Given the description of an element on the screen output the (x, y) to click on. 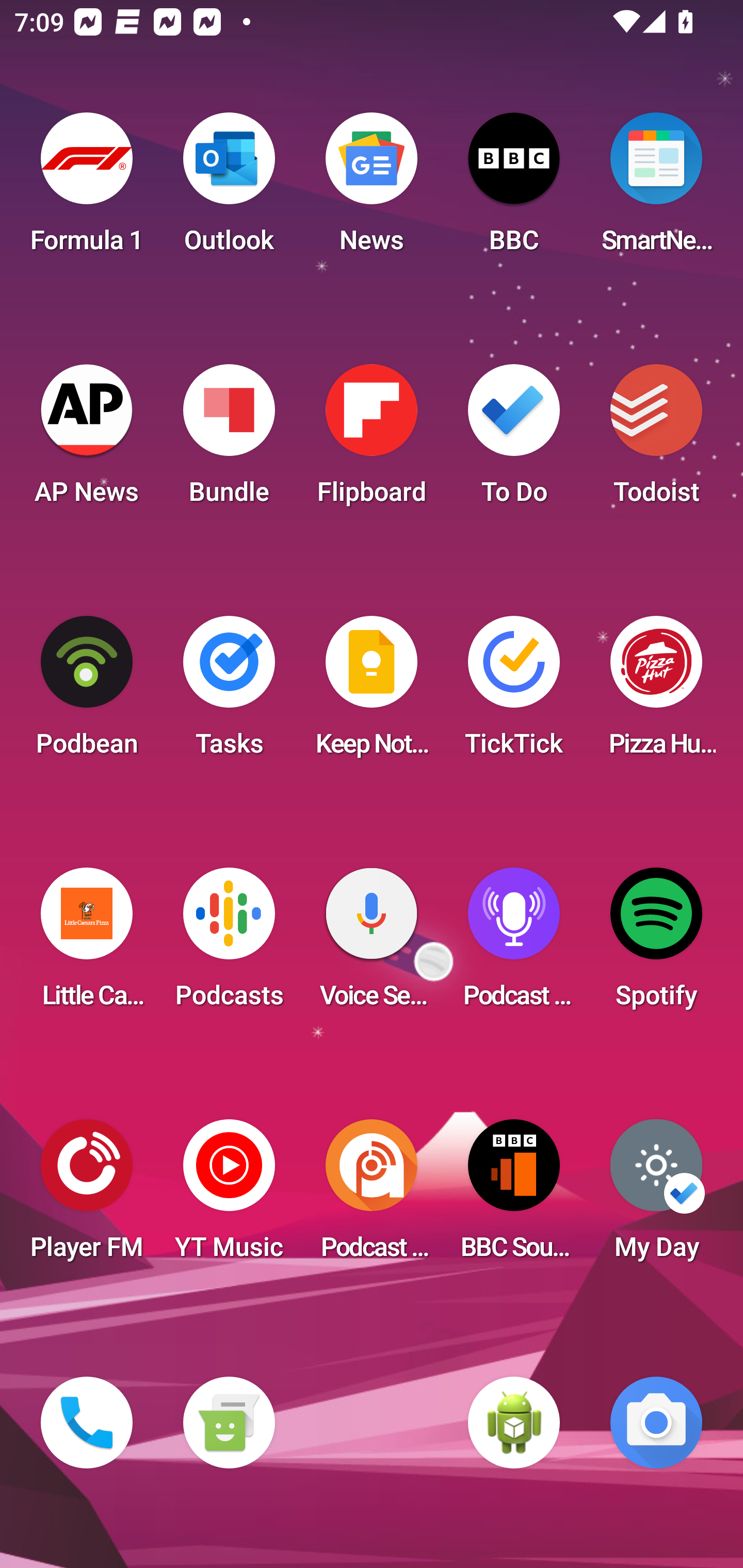
Formula 1 (86, 188)
Outlook (228, 188)
News (371, 188)
BBC (513, 188)
SmartNews (656, 188)
AP News (86, 440)
Bundle (228, 440)
Flipboard (371, 440)
To Do (513, 440)
Todoist (656, 440)
Podbean (86, 692)
Tasks (228, 692)
Keep Notes (371, 692)
TickTick (513, 692)
Pizza Hut HK & Macau (656, 692)
Little Caesars Pizza (86, 943)
Podcasts (228, 943)
Voice Search (371, 943)
Podcast Player (513, 943)
Spotify (656, 943)
Player FM (86, 1195)
YT Music (228, 1195)
Podcast Addict (371, 1195)
BBC Sounds (513, 1195)
My Day (656, 1195)
Phone (86, 1422)
Messaging (228, 1422)
WebView Browser Tester (513, 1422)
Camera (656, 1422)
